Given the description of an element on the screen output the (x, y) to click on. 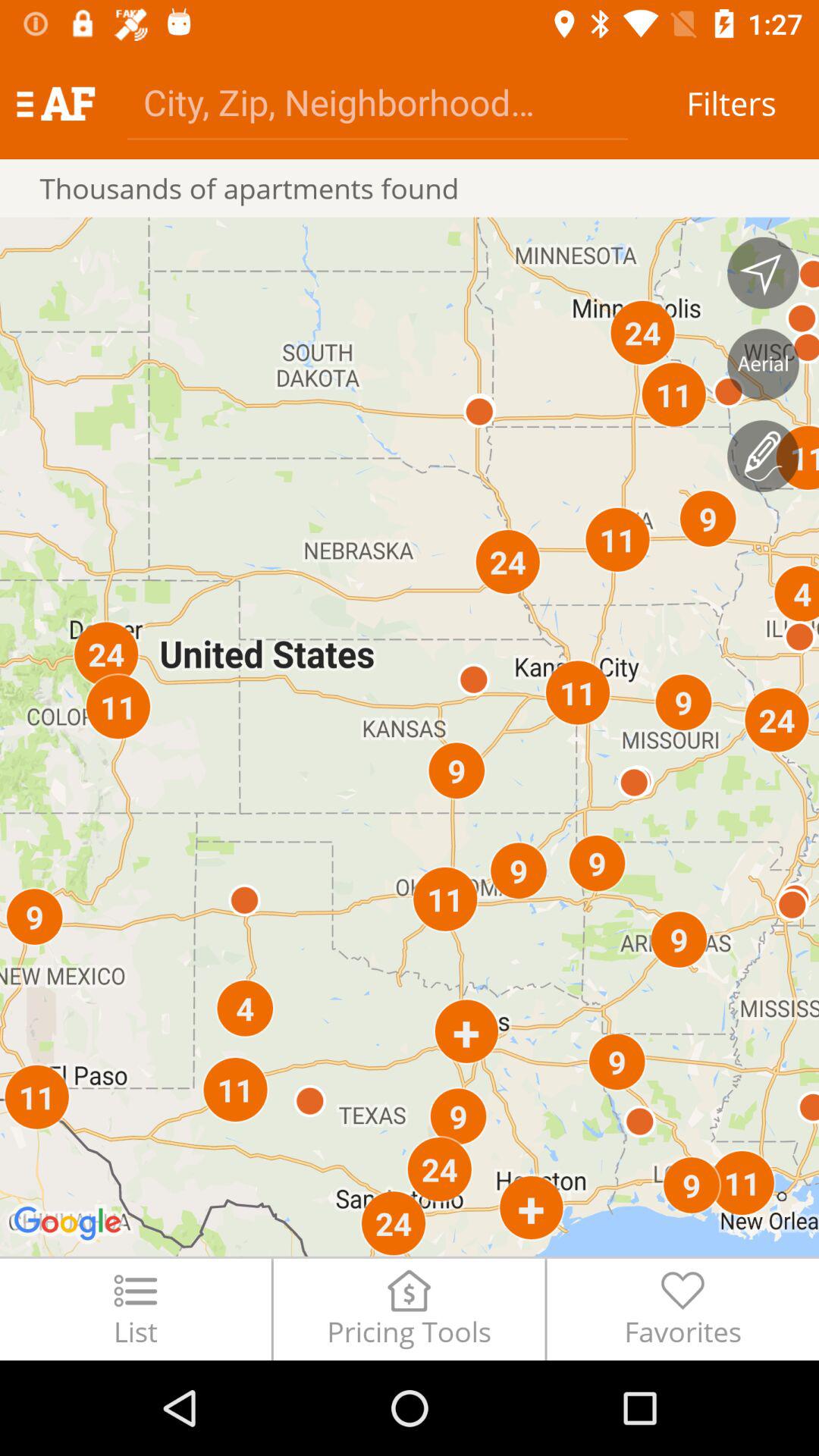
go to weather report (763, 455)
